Given the description of an element on the screen output the (x, y) to click on. 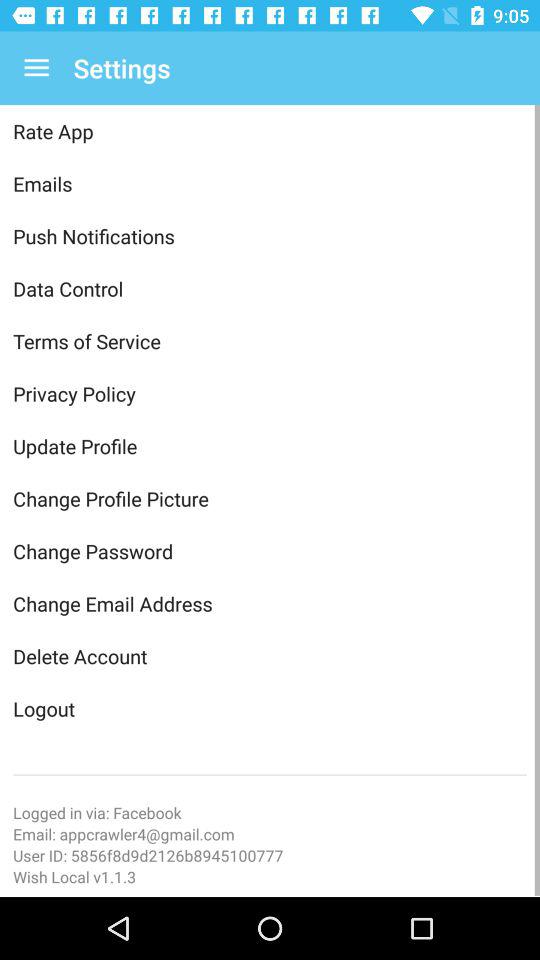
flip until logged in via (269, 812)
